Given the description of an element on the screen output the (x, y) to click on. 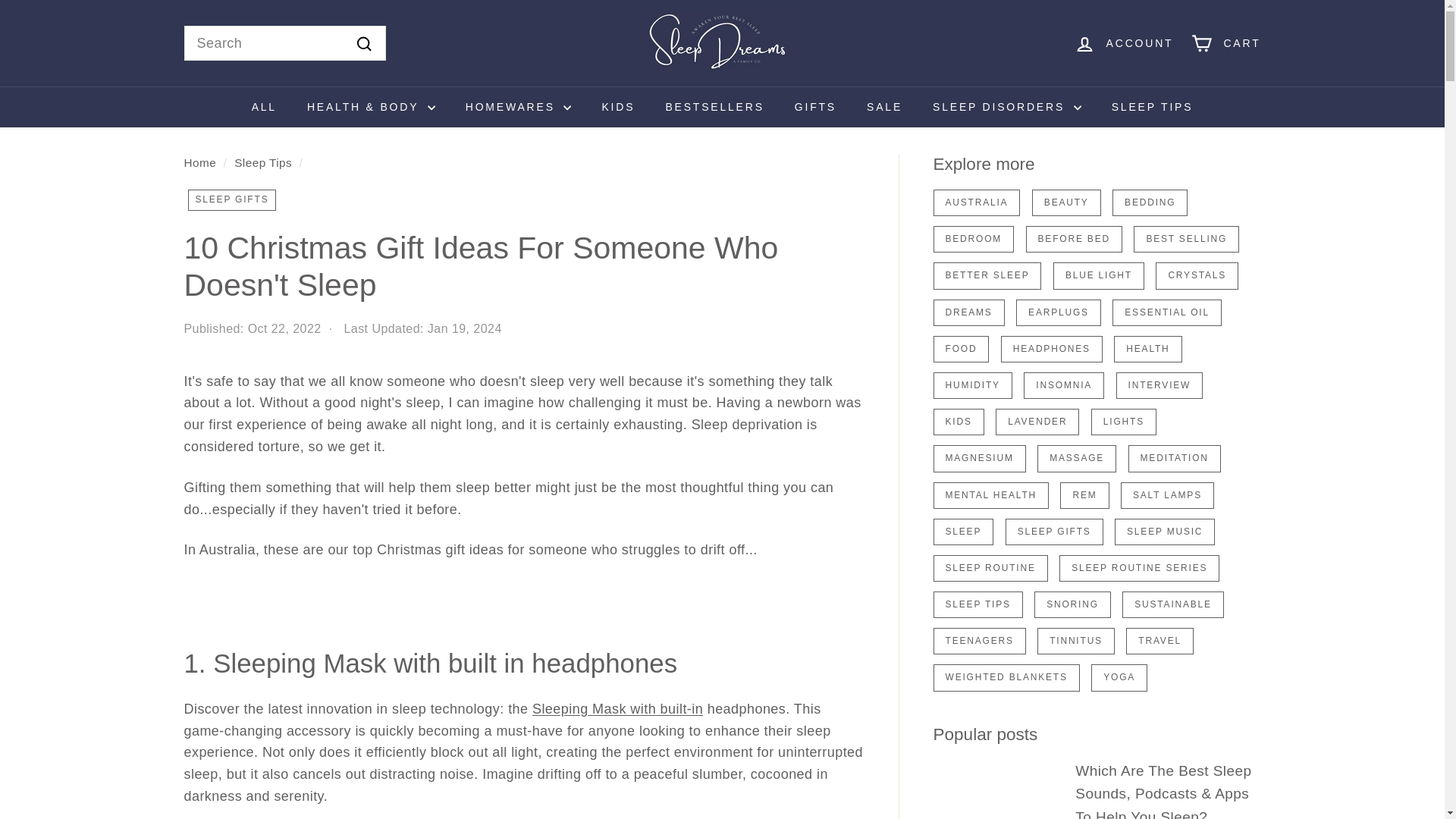
ALL (263, 106)
sleep headphones (617, 708)
ACCOUNT (1123, 43)
CART (1225, 43)
Back to the frontpage (199, 162)
